Given the description of an element on the screen output the (x, y) to click on. 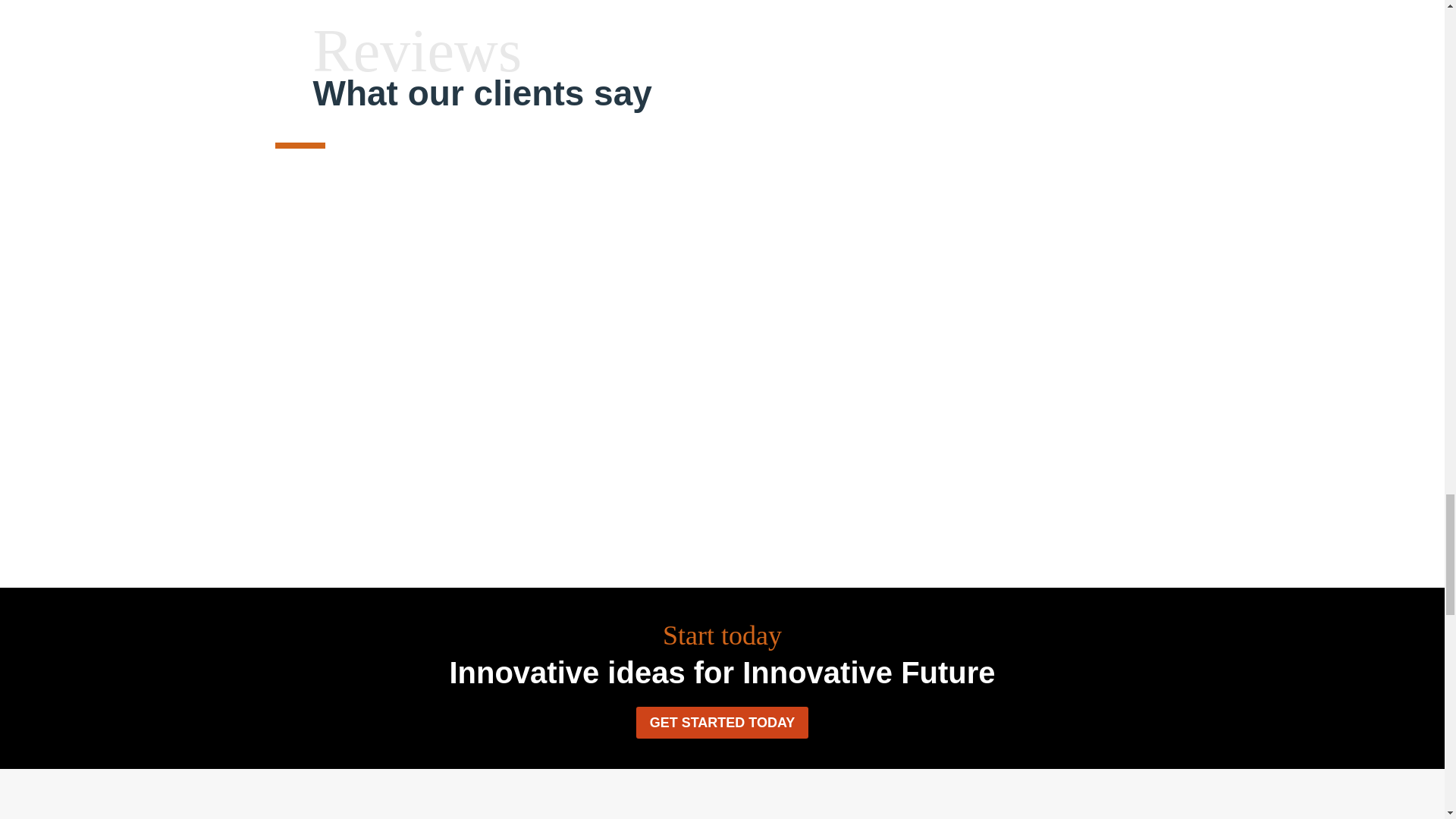
GET STARTED TODAY (722, 721)
